Given the description of an element on the screen output the (x, y) to click on. 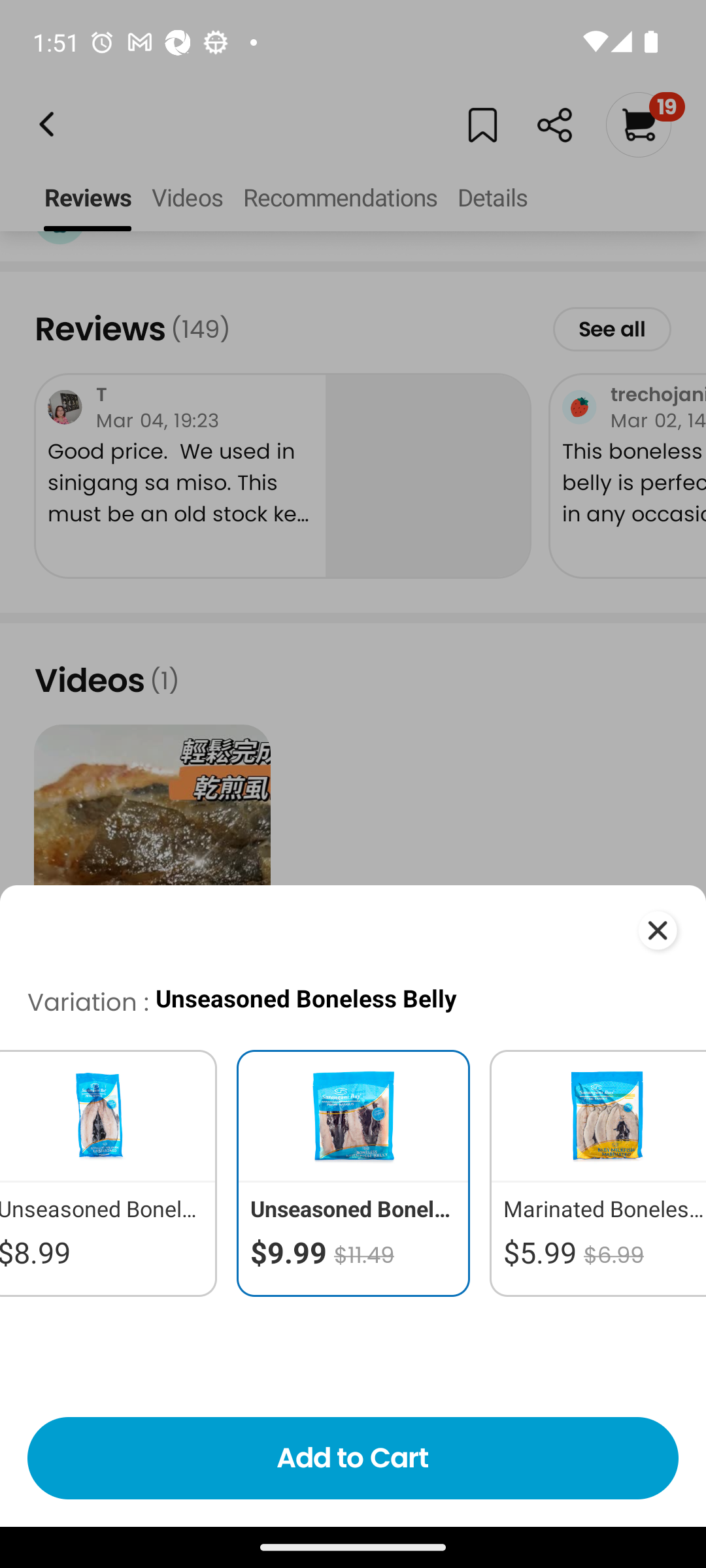
Unseasoned Boneless $8.99 (113, 1173)
Unseasoned Boneless Belly $9.99 $11.49 (353, 1173)
Marinated Boneless Baby $5.99 $6.99 (593, 1173)
Add to Cart (352, 1458)
